Given the description of an element on the screen output the (x, y) to click on. 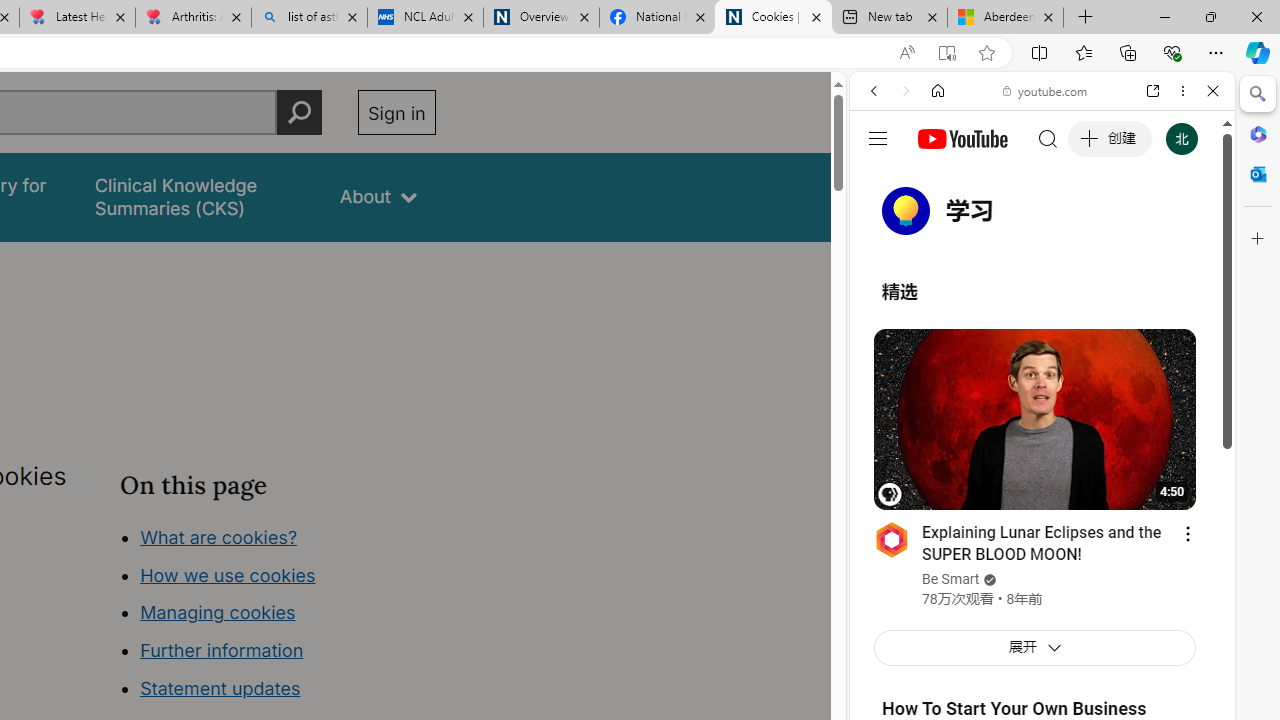
YouTube (1034, 296)
Search videos from youtube.com (1005, 657)
